Given the description of an element on the screen output the (x, y) to click on. 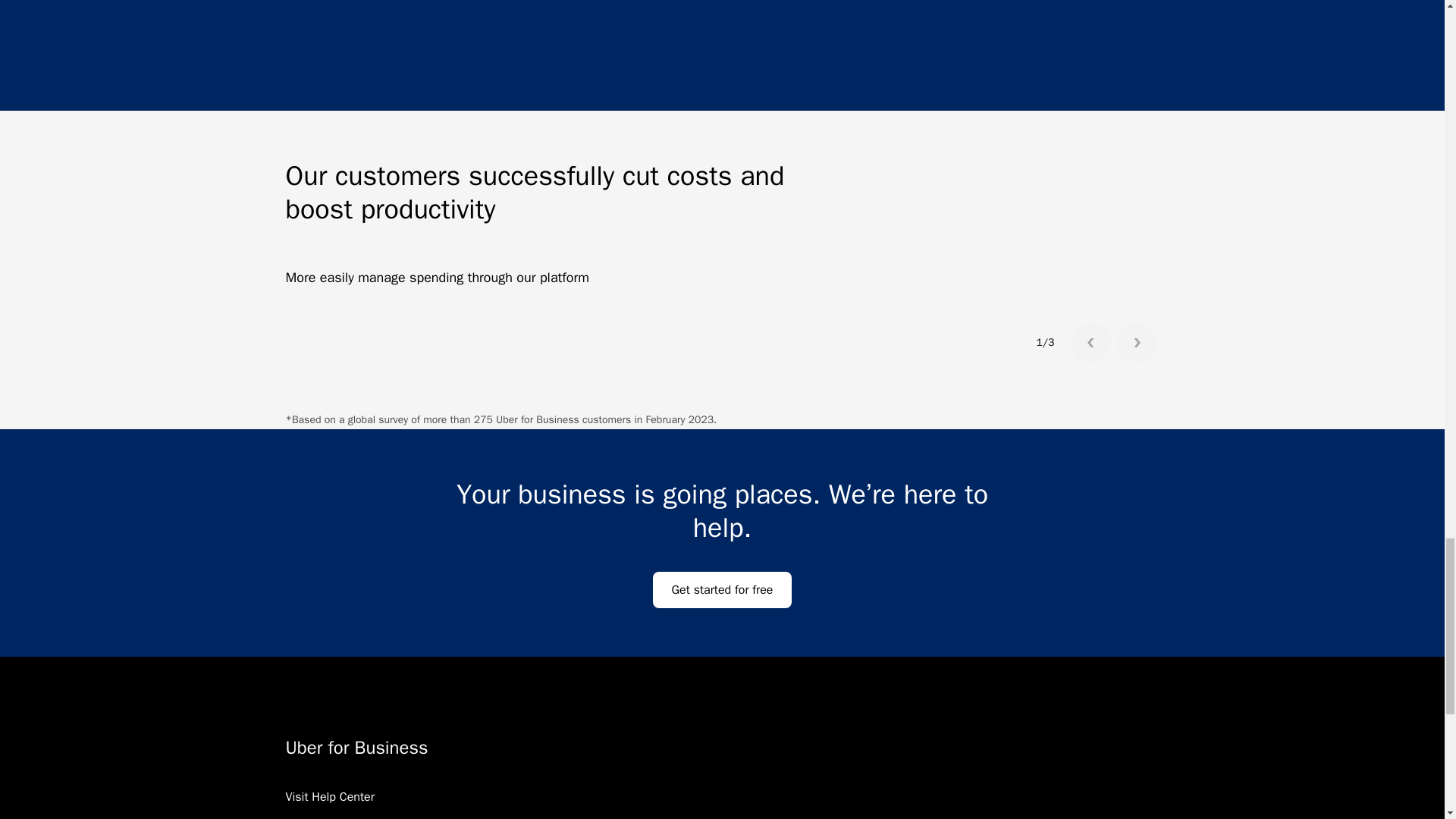
Visit Help Center (329, 805)
Get started for free (722, 589)
Uber for Business (572, 747)
